Given the description of an element on the screen output the (x, y) to click on. 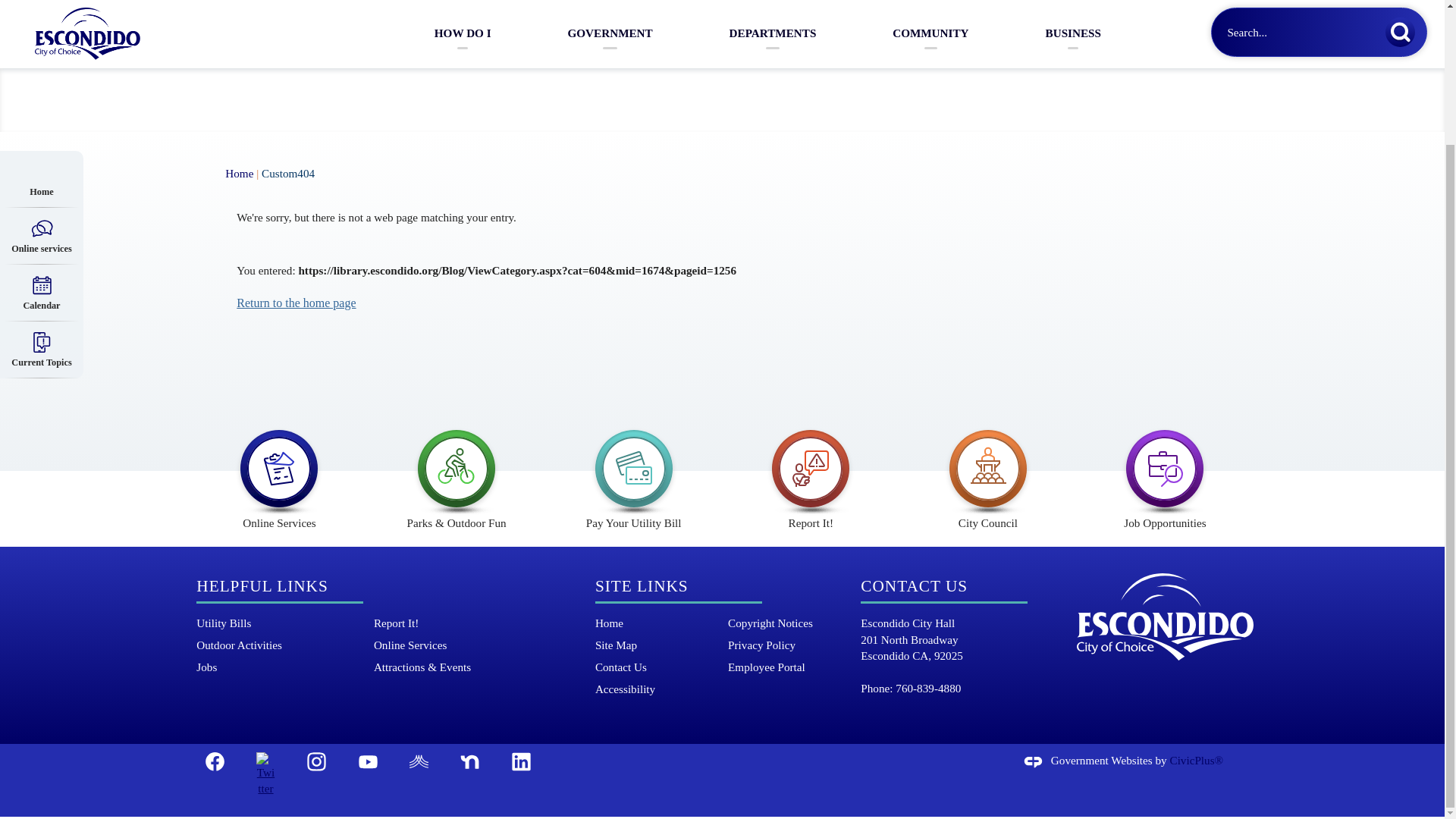
Online Services (279, 473)
Home (41, 21)
Employee Portal (766, 666)
Online Services (410, 644)
Site Map (616, 644)
Current Topics (41, 185)
Online services (41, 71)
Jobs (206, 666)
760-839-4880 (927, 688)
Home (609, 622)
Accessibility (625, 688)
Privacy Policy (761, 644)
HELPFUL LINKS (261, 586)
Return to the home page (295, 302)
Outdoor Activities (239, 644)
